Given the description of an element on the screen output the (x, y) to click on. 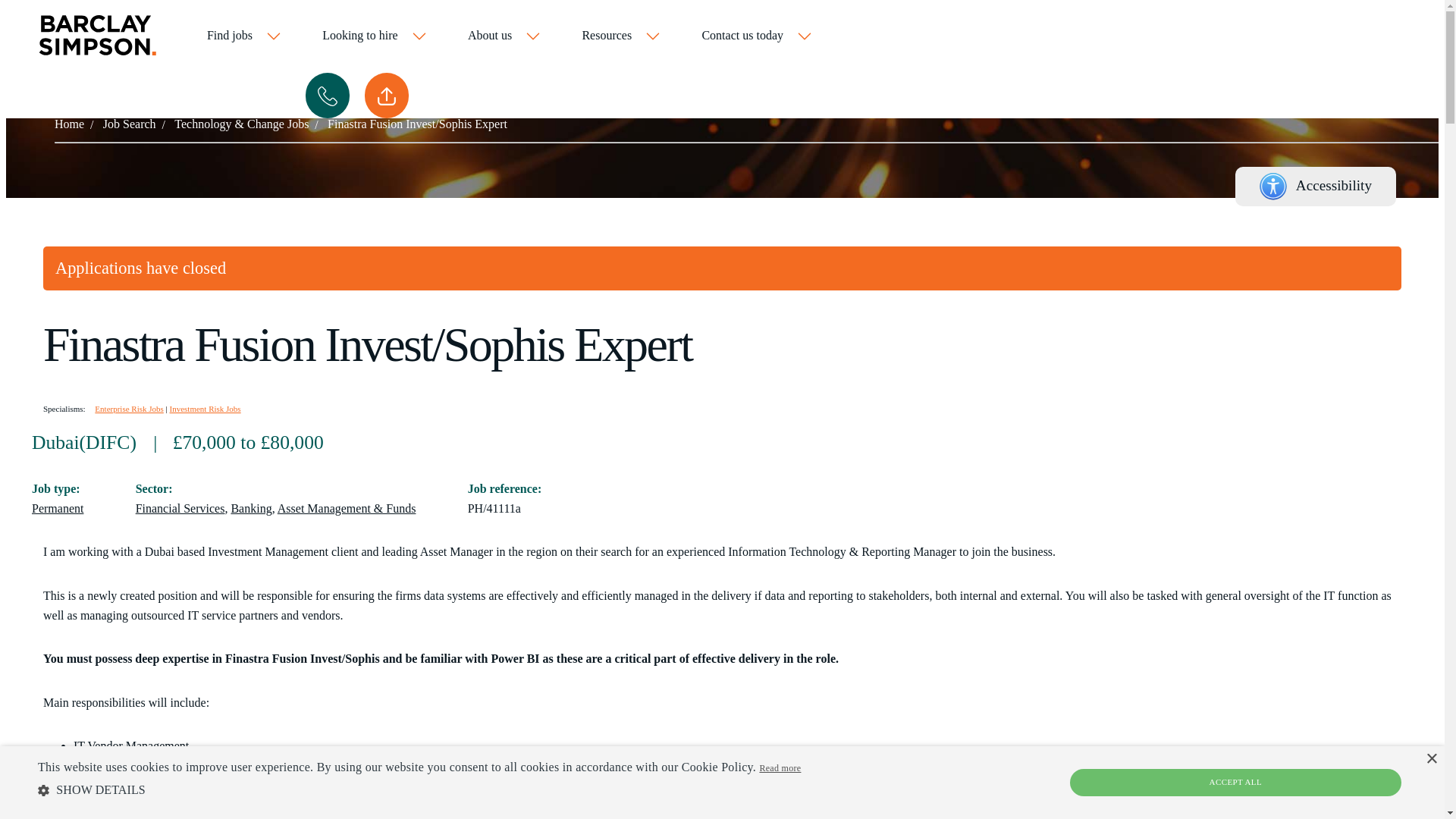
Find jobs (244, 36)
Looking to hire (374, 36)
